Given the description of an element on the screen output the (x, y) to click on. 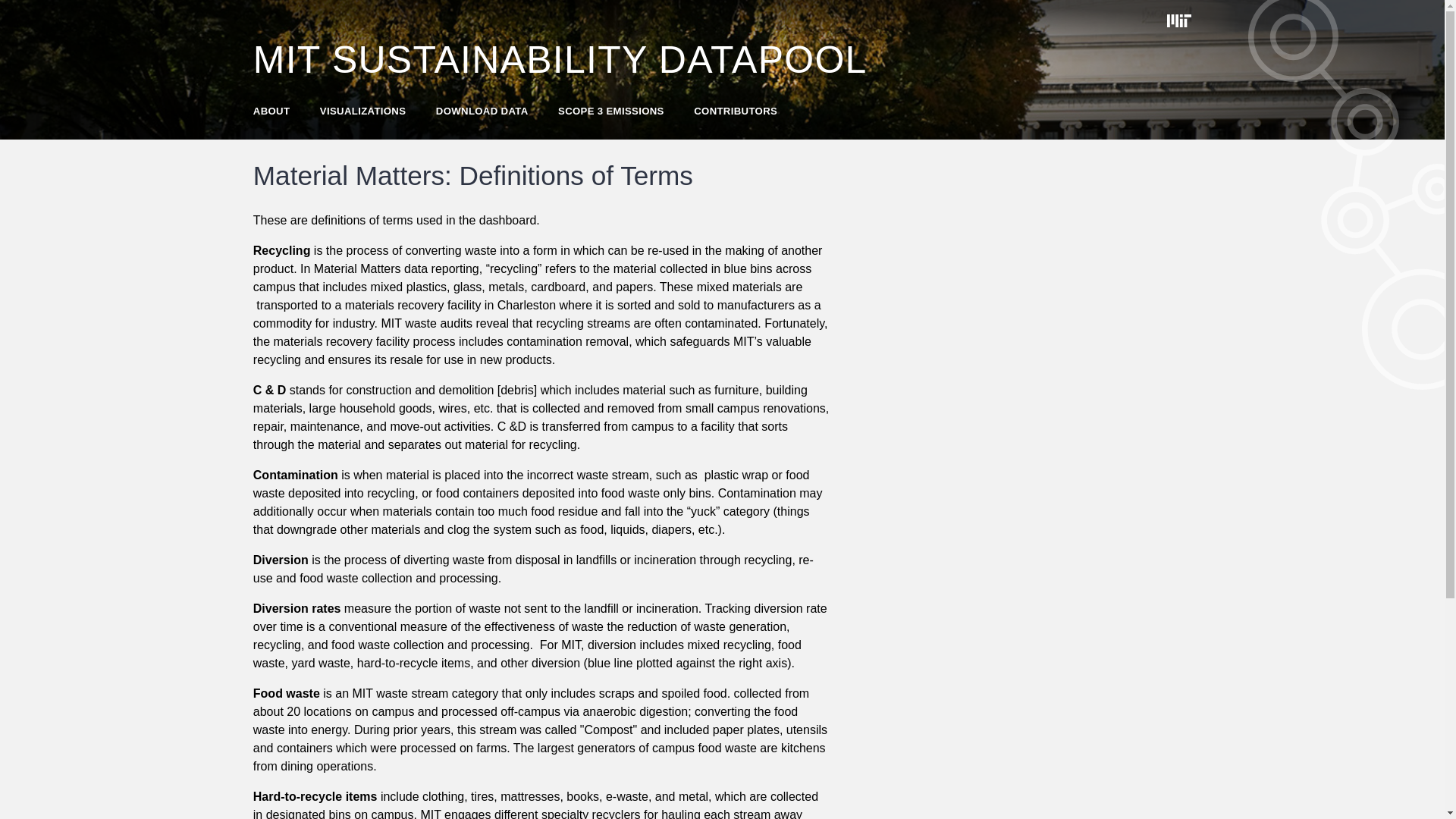
VISUALIZATIONS (363, 110)
ABOUT (271, 110)
SCOPE 3 EMISSIONS (610, 110)
MIT SUSTAINABILITY DATAPOOL (560, 60)
DOWNLOAD DATA (481, 110)
CONTRIBUTORS (735, 110)
